Given the description of an element on the screen output the (x, y) to click on. 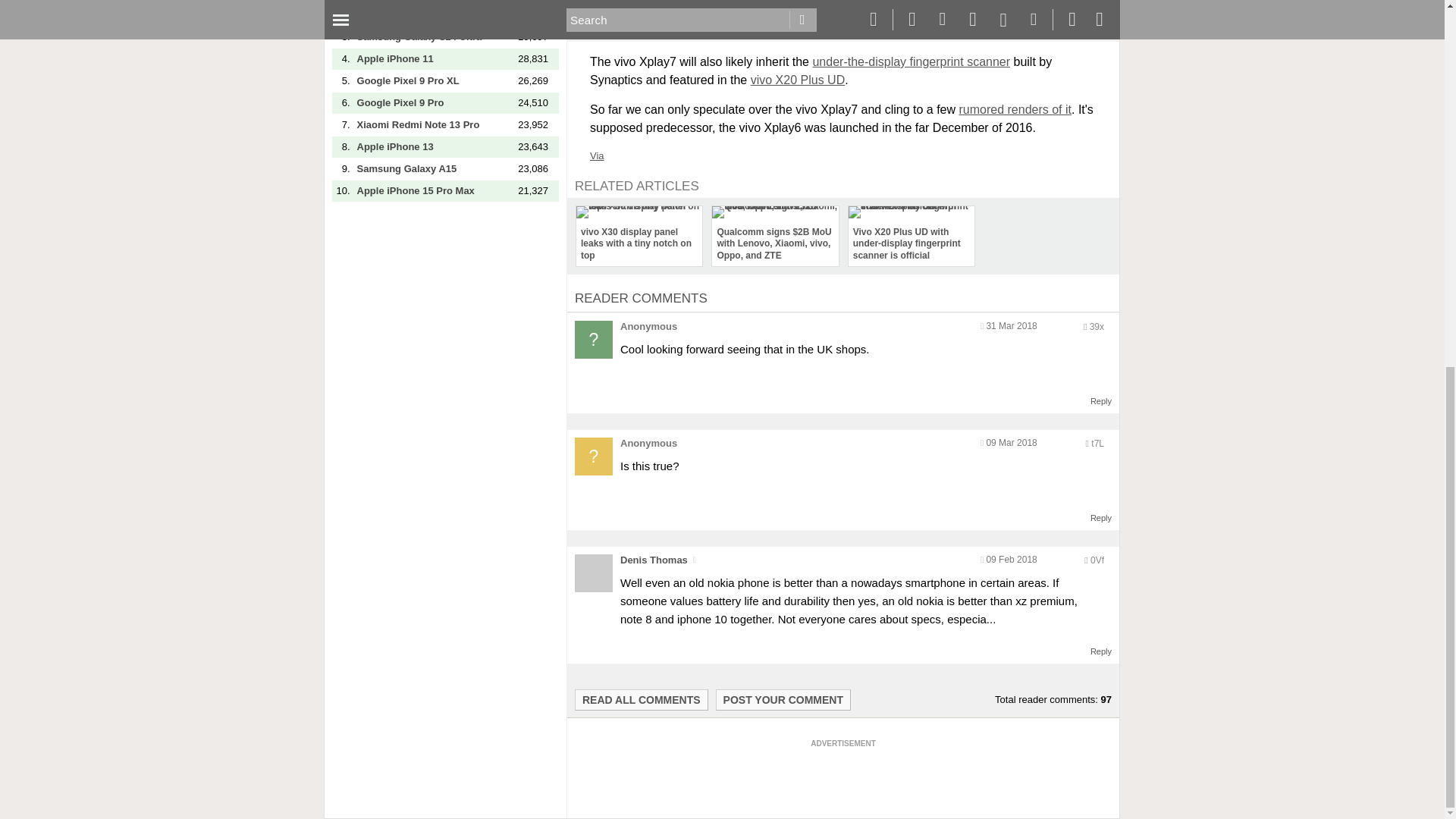
Via (596, 155)
vivo X30 display panel leaks with a tiny notch on top (638, 236)
Reply to this post (1101, 400)
rumored renders of it (1014, 109)
Encoded anonymized location (1096, 560)
Encoded anonymized location (1096, 326)
Reply to this post (1101, 517)
vivo X20 Plus UD (798, 79)
under-the-display fingerprint scanner (911, 61)
Reply to this post (1101, 651)
